Given the description of an element on the screen output the (x, y) to click on. 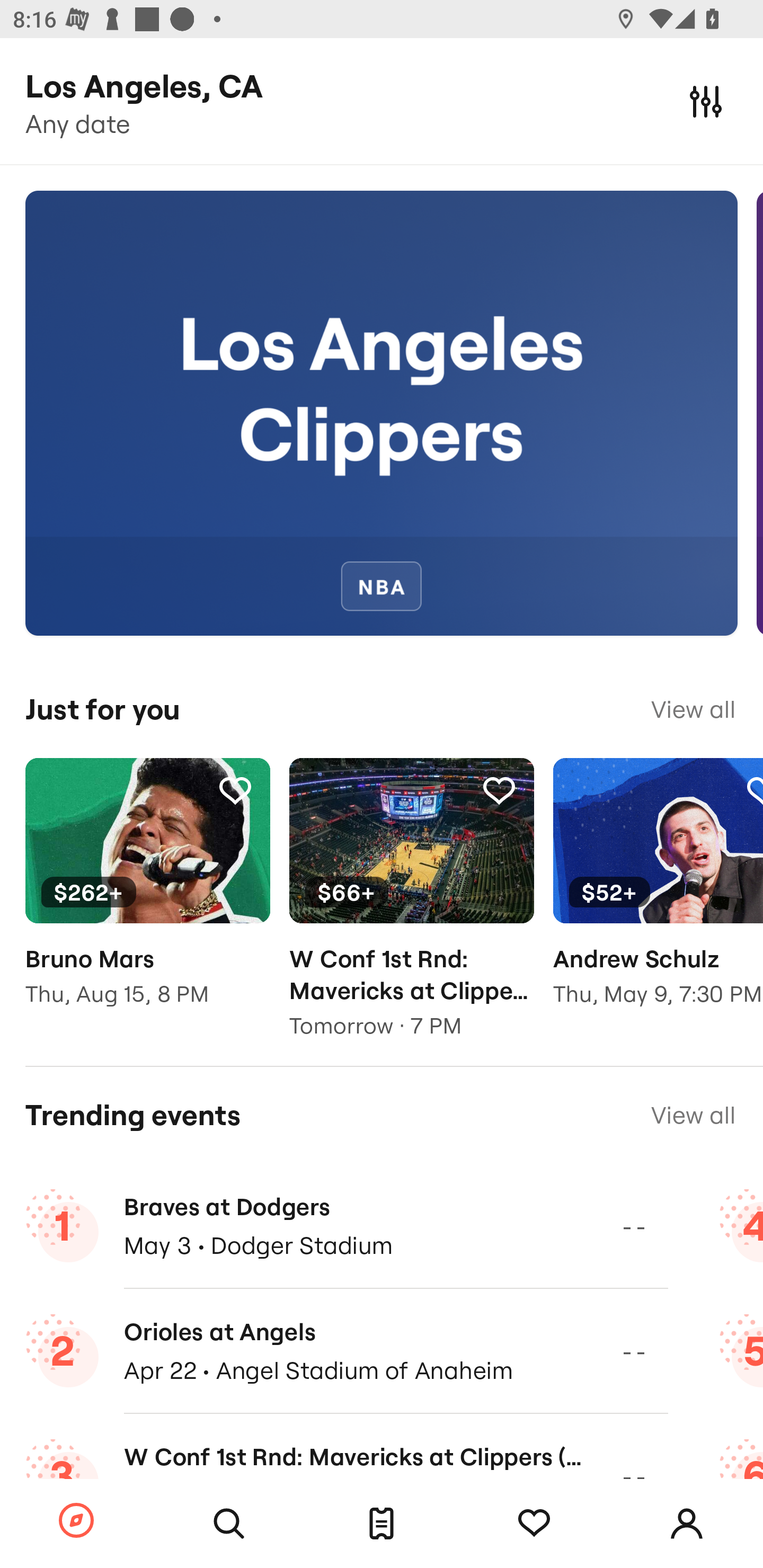
Filters (705, 100)
View all (693, 709)
Tracking $262+ Bruno Mars Thu, Aug 15, 8 PM (147, 895)
Tracking $52+ Andrew Schulz Thu, May 9, 7:30 PM (658, 895)
Tracking (234, 790)
Tracking (498, 790)
View all (693, 1114)
Browse (76, 1521)
Search (228, 1523)
Tickets (381, 1523)
Tracking (533, 1523)
Account (686, 1523)
